Given the description of an element on the screen output the (x, y) to click on. 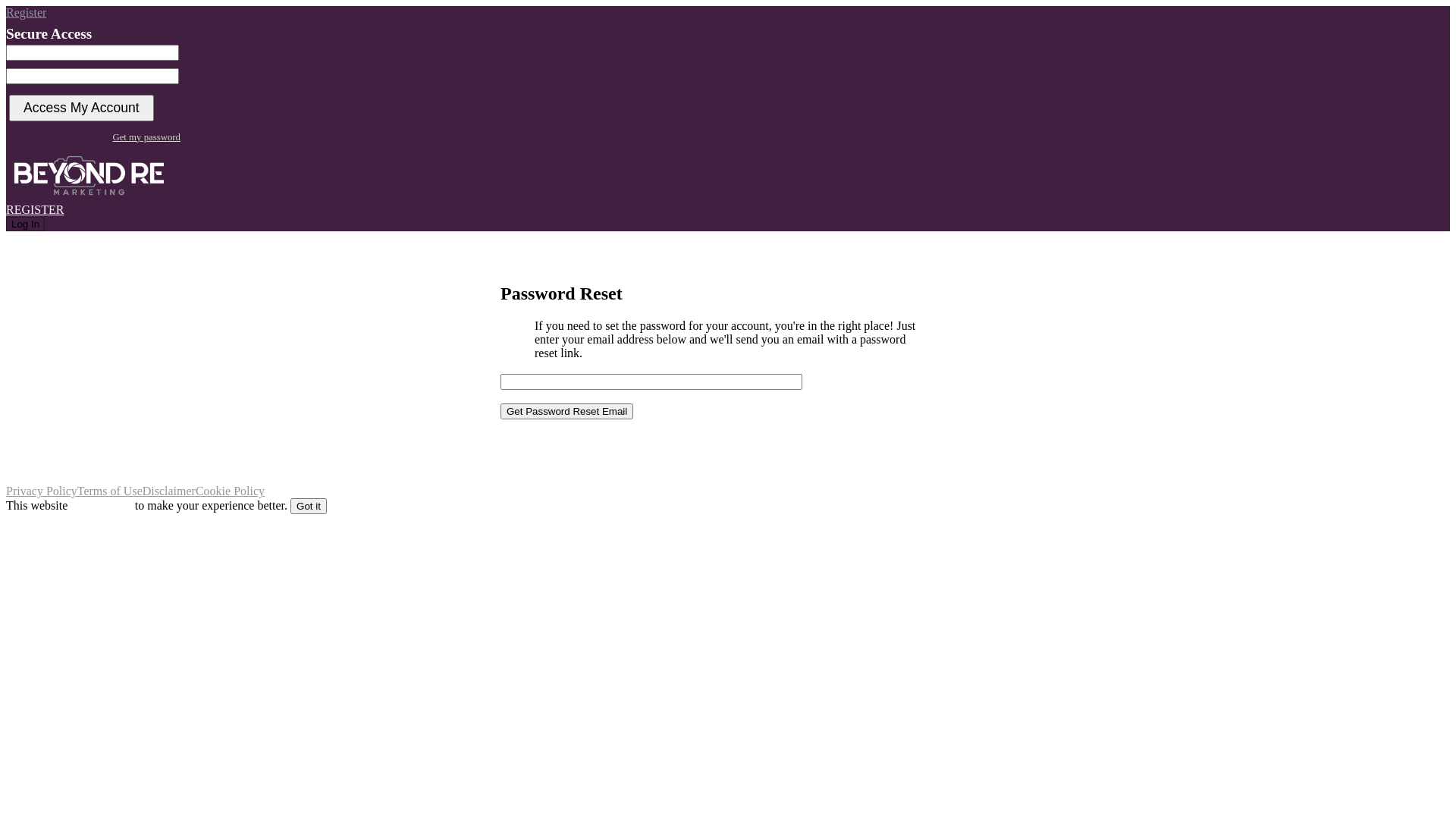
Get Password Reset Email Element type: text (566, 411)
Privacy Policy Element type: text (41, 490)
Terms of Use Element type: text (109, 490)
Got it Element type: text (308, 506)
Disclaimer Element type: text (168, 490)
uses cookies Element type: text (100, 504)
Access My Account Element type: text (81, 108)
Log In Element type: text (25, 223)
Get my password Element type: text (146, 136)
Cookie Policy Element type: text (229, 490)
Register Element type: text (26, 12)
REGISTER Element type: text (34, 209)
